Given the description of an element on the screen output the (x, y) to click on. 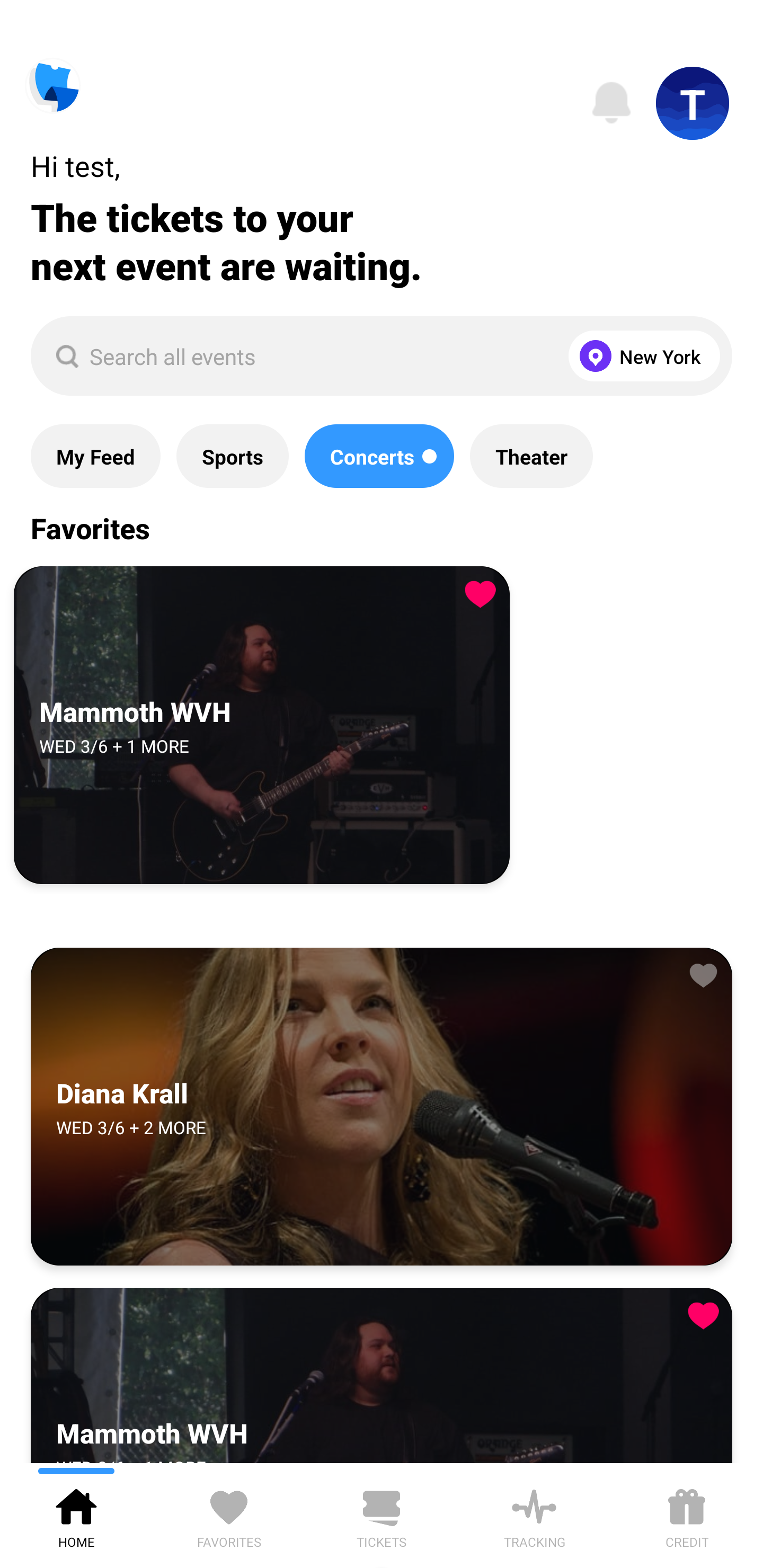
T (692, 103)
New York (640, 355)
My Feed (95, 455)
Sports (232, 455)
Concerts (378, 455)
Theater (531, 455)
HOME (76, 1515)
FAVORITES (228, 1515)
TICKETS (381, 1515)
TRACKING (533, 1515)
CREDIT (686, 1515)
